Given the description of an element on the screen output the (x, y) to click on. 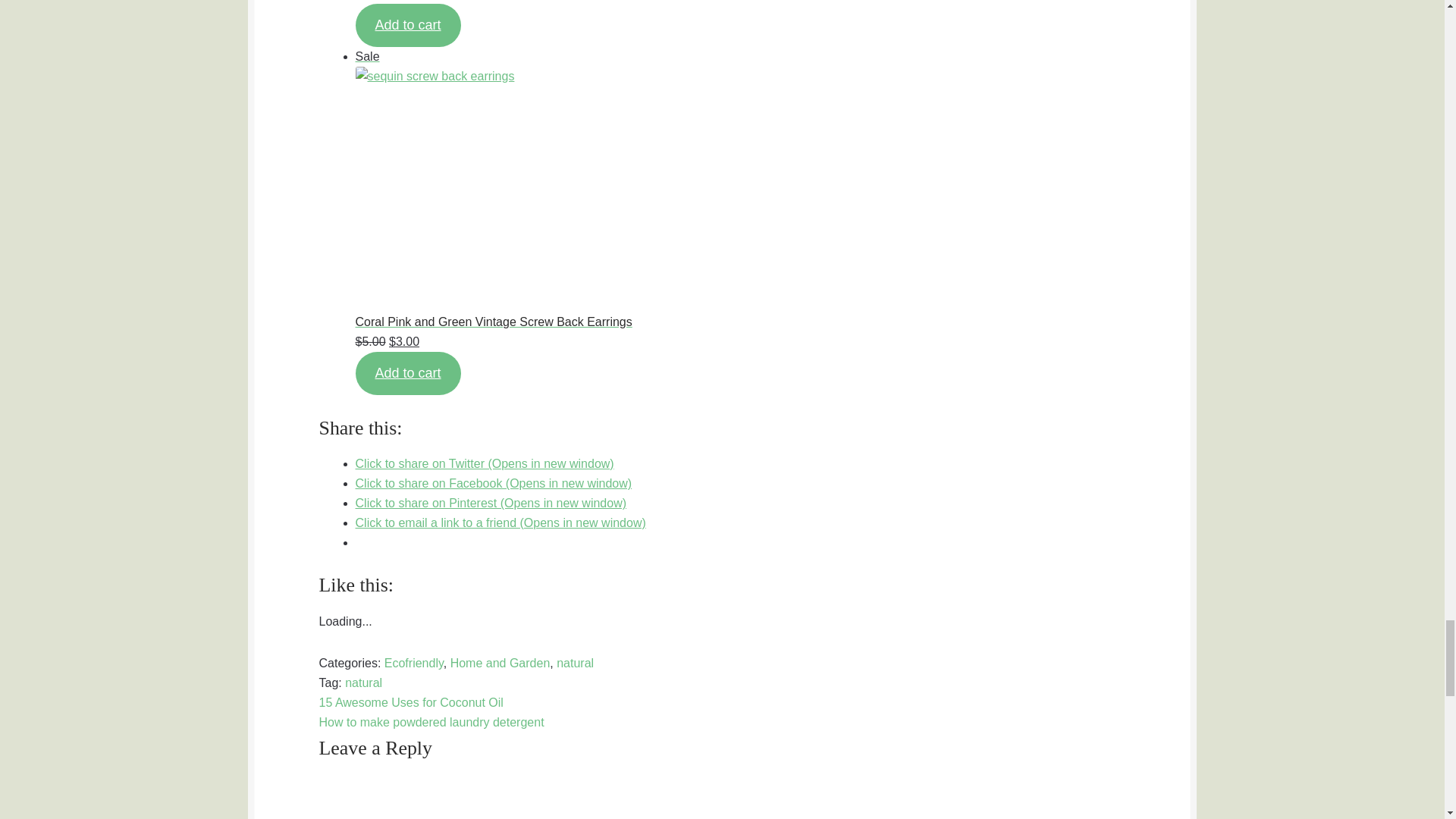
Click to email a link to a friend (500, 522)
Click to share on Facebook (493, 482)
Click to share on Pinterest (491, 502)
Click to share on Twitter (484, 463)
